Given the description of an element on the screen output the (x, y) to click on. 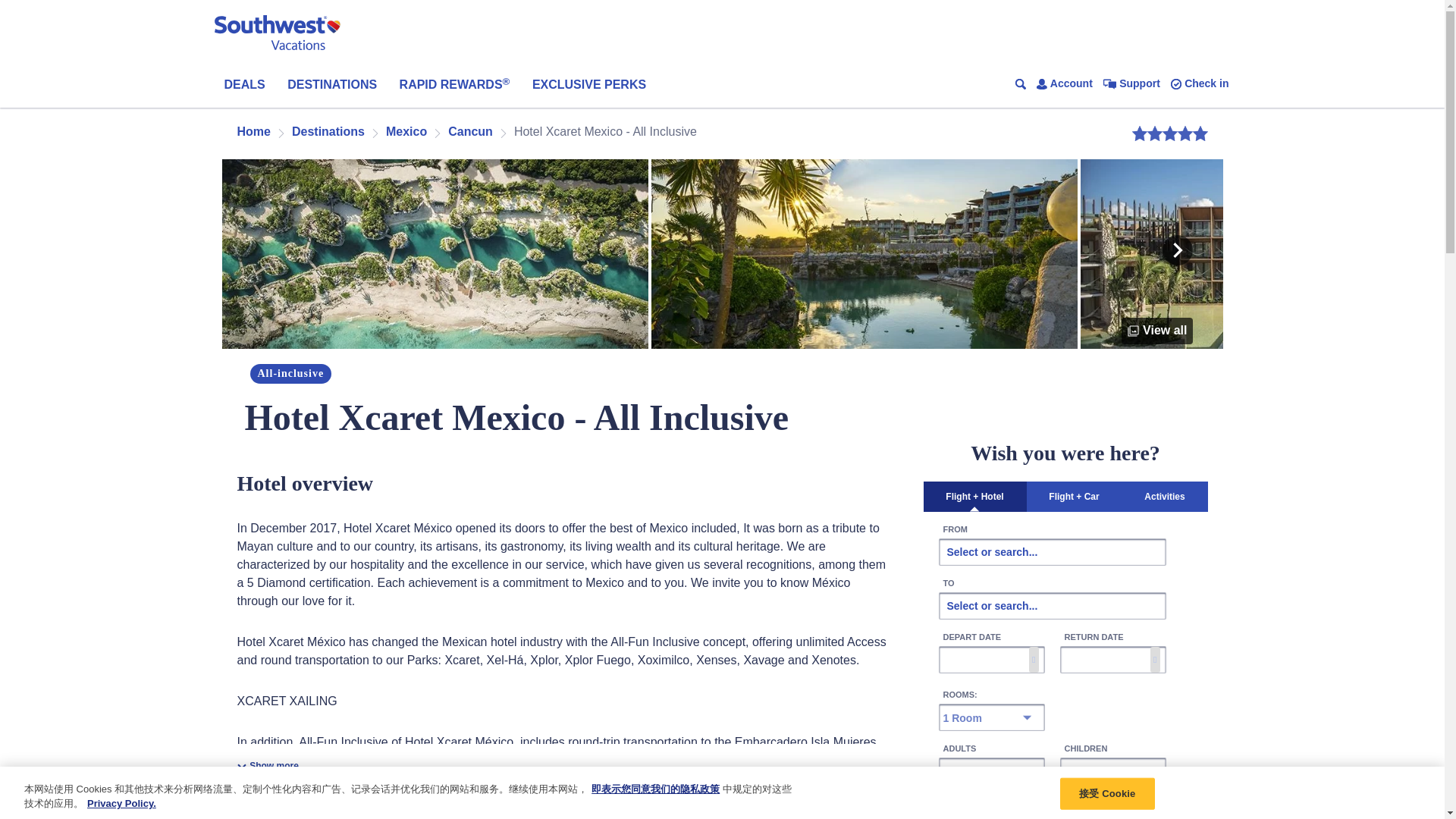
Activities (1165, 496)
DEALS (244, 85)
DESTINATIONS (331, 85)
